Given the description of an element on the screen output the (x, y) to click on. 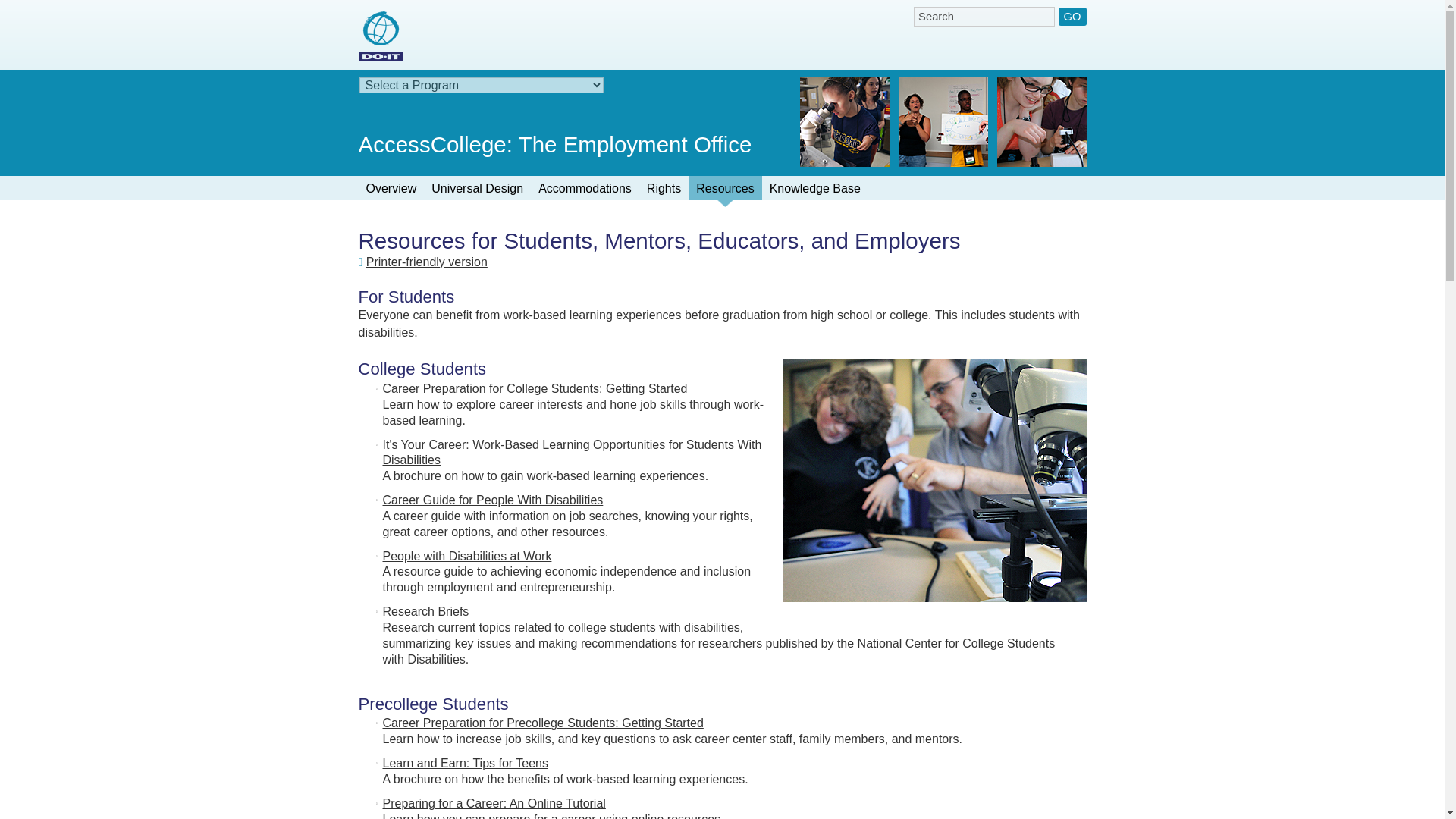
Home (379, 35)
Resources (724, 191)
Go (1072, 16)
programs-header-fpo3.jpg (843, 121)
DO-IT (379, 35)
Go (1072, 16)
Overview (390, 191)
Search (984, 16)
Rights (663, 191)
Universal Design (477, 191)
Instructor demonstrating an application to a student (925, 489)
Knowledge Base (814, 191)
Accommodations (585, 191)
programs-header-fpo2.jpg (942, 121)
